Given the description of an element on the screen output the (x, y) to click on. 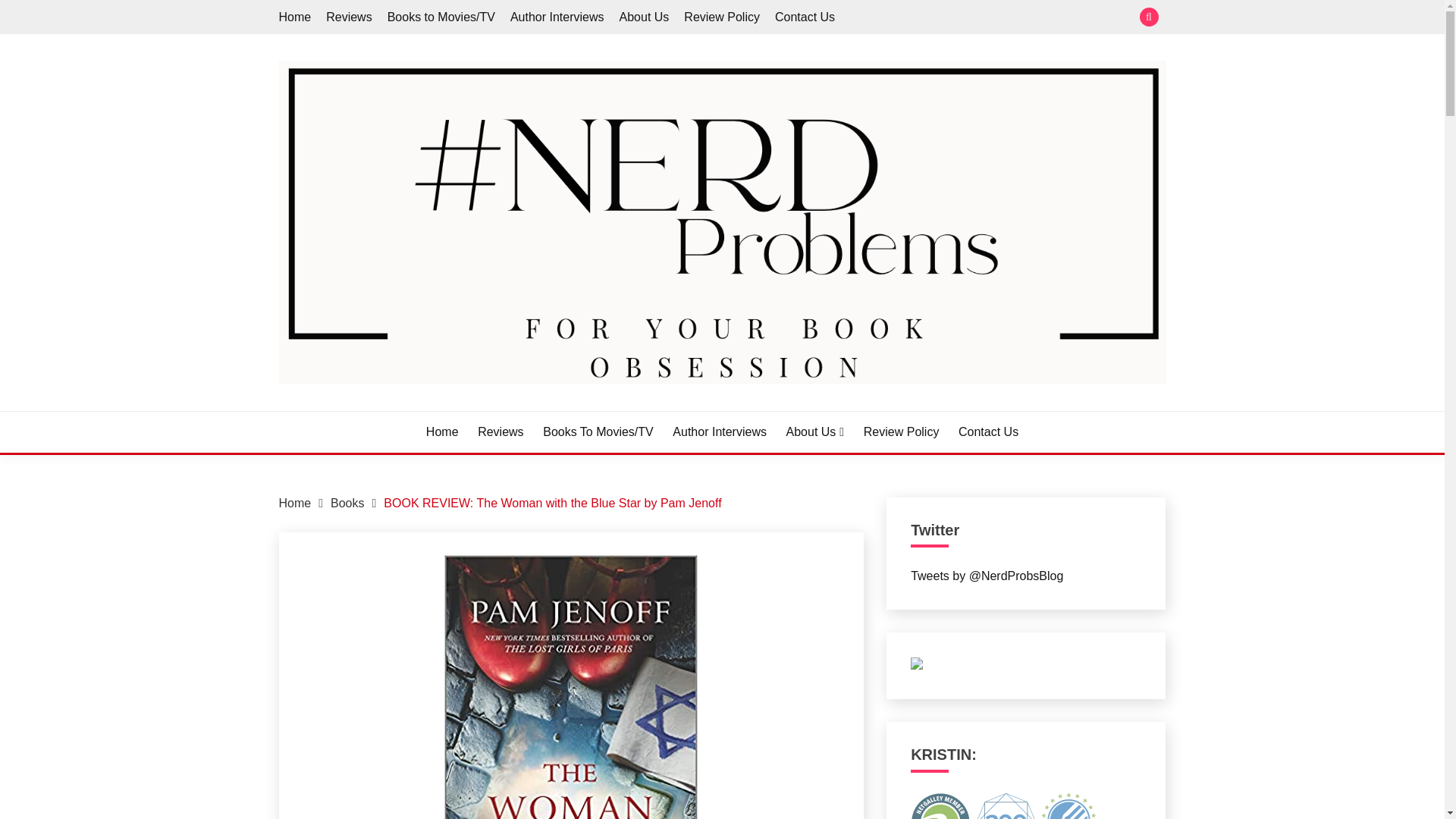
Author Interviews (719, 432)
About Us (644, 16)
Author Interviews (557, 16)
BOOK REVIEW: The Woman with the Blue Star by Pam Jenoff (552, 502)
Review Policy (901, 432)
Books (347, 502)
Professional Reader (941, 805)
200 Book Reviews (1005, 805)
Review Policy (722, 16)
Home (295, 502)
Contact Us (804, 16)
Reviews (499, 432)
Home (295, 16)
Contact Us (987, 432)
Reviews Published (1069, 805)
